Given the description of an element on the screen output the (x, y) to click on. 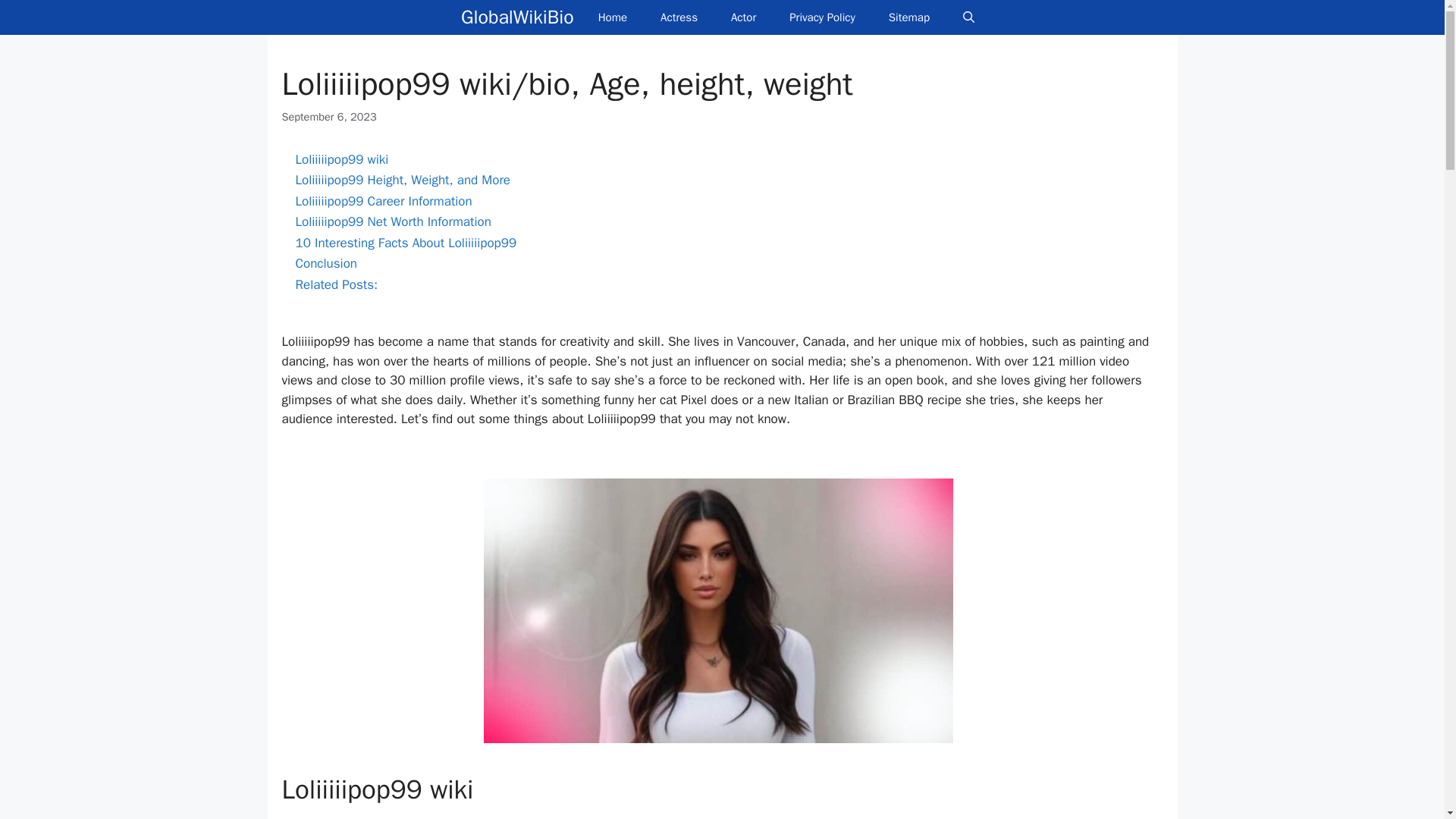
Loliiiiipop99 Height, Weight, and More (403, 179)
Privacy Policy (822, 17)
10 Interesting Facts About Loliiiiipop99 (405, 242)
Home (611, 17)
Sitemap (909, 17)
Loliiiiipop99 Net Worth Information (393, 221)
GlobalWikiBio (517, 17)
Loliiiiipop99 Career Information (383, 201)
Conclusion (325, 263)
Loliiiiipop99 wiki (341, 159)
